Given the description of an element on the screen output the (x, y) to click on. 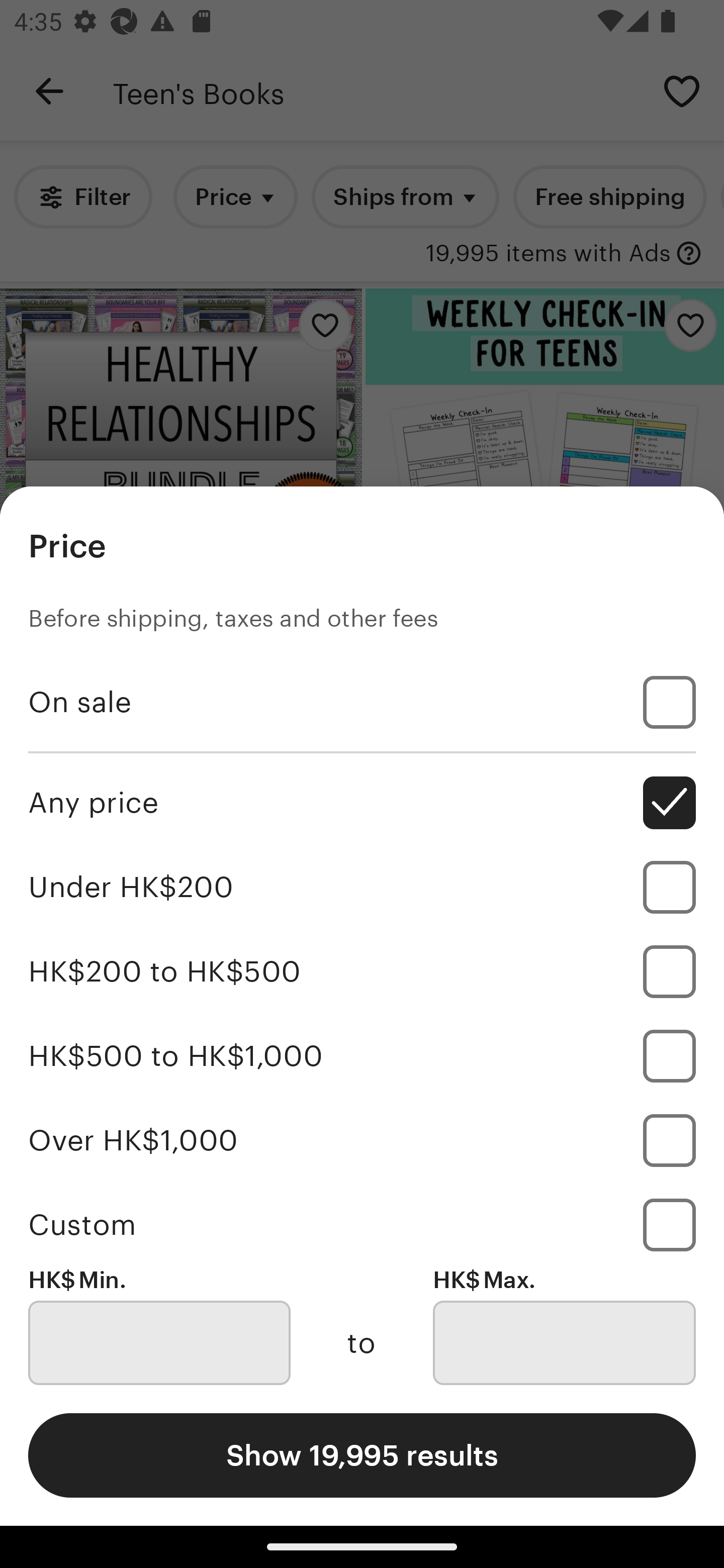
On sale (362, 702)
Any price (362, 802)
Under HK$200 (362, 887)
HK$200 to HK$500 (362, 970)
HK$500 to HK$1,000 (362, 1054)
Over HK$1,000 (362, 1139)
Custom (362, 1224)
Show 19,995 results (361, 1454)
